Given the description of an element on the screen output the (x, y) to click on. 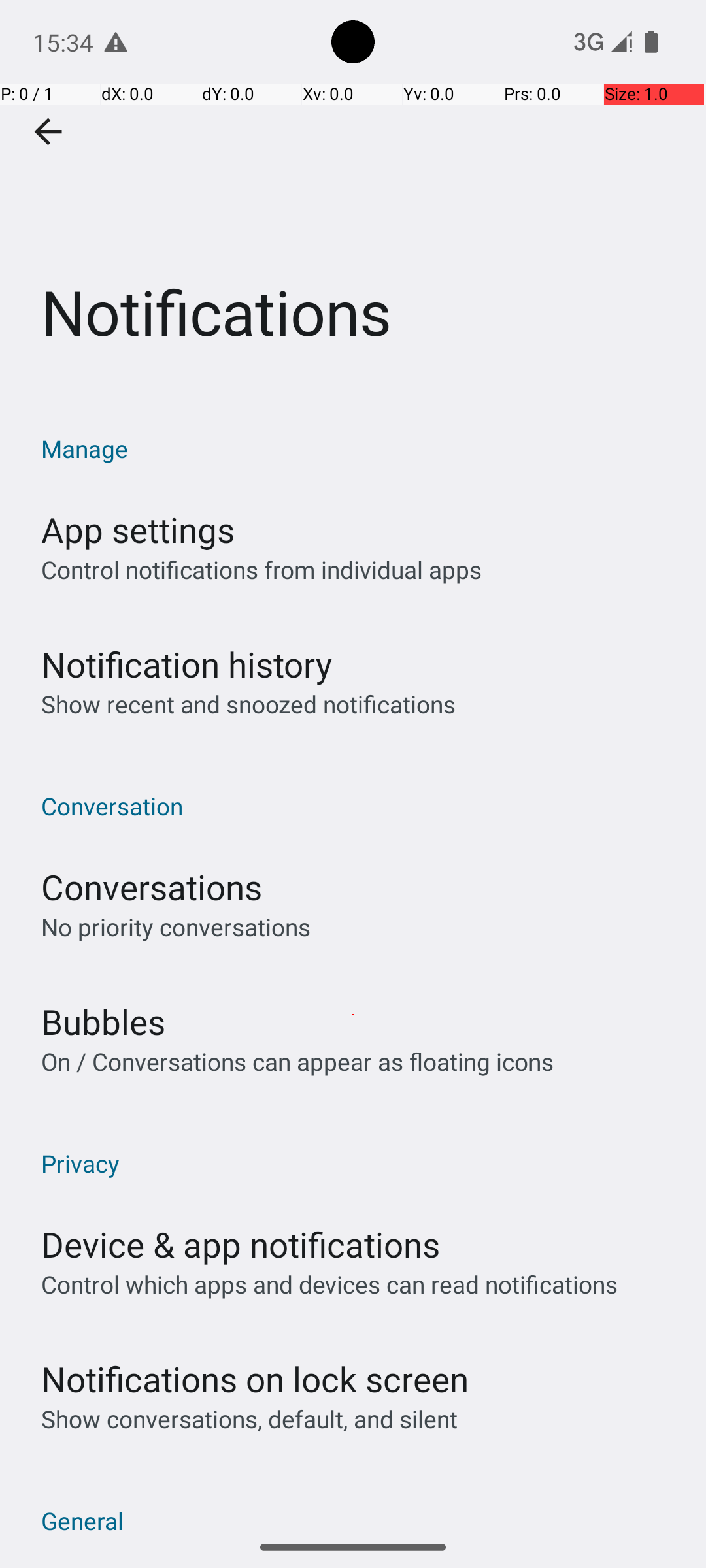
Manage Element type: android.widget.TextView (359, 448)
App settings Element type: android.widget.TextView (137, 529)
Control notifications from individual apps Element type: android.widget.TextView (261, 569)
Notification history Element type: android.widget.TextView (186, 663)
Show recent and snoozed notifications Element type: android.widget.TextView (248, 703)
Conversation Element type: android.widget.TextView (359, 805)
Conversations Element type: android.widget.TextView (151, 886)
No priority conversations Element type: android.widget.TextView (175, 926)
Bubbles Element type: android.widget.TextView (103, 1021)
On / Conversations can appear as floating icons Element type: android.widget.TextView (297, 1061)
Privacy Element type: android.widget.TextView (359, 1162)
Device & app notifications Element type: android.widget.TextView (240, 1244)
Control which apps and devices can read notifications Element type: android.widget.TextView (329, 1283)
Notifications on lock screen Element type: android.widget.TextView (254, 1378)
Show conversations, default, and silent Element type: android.widget.TextView (249, 1418)
